Given the description of an element on the screen output the (x, y) to click on. 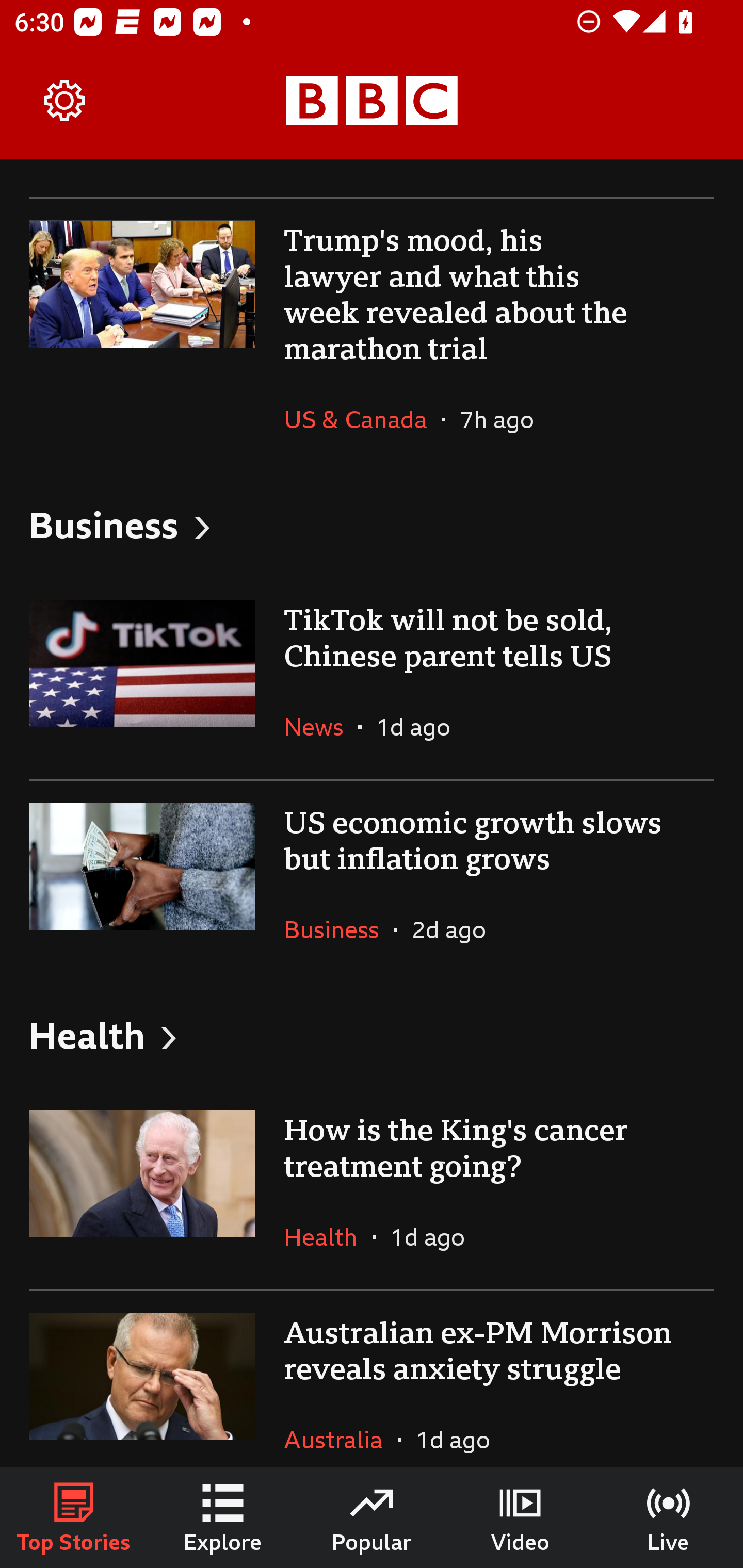
Settings (64, 100)
US & Canada In the section US & Canada (362, 418)
Business, Heading Business    (371, 524)
News In the section News (320, 726)
Business In the section Business (338, 929)
Health, Heading Health    (371, 1034)
Health In the section Health (327, 1236)
Australia In the section Australia (340, 1427)
Explore (222, 1517)
Popular (371, 1517)
Video (519, 1517)
Live (668, 1517)
